Given the description of an element on the screen output the (x, y) to click on. 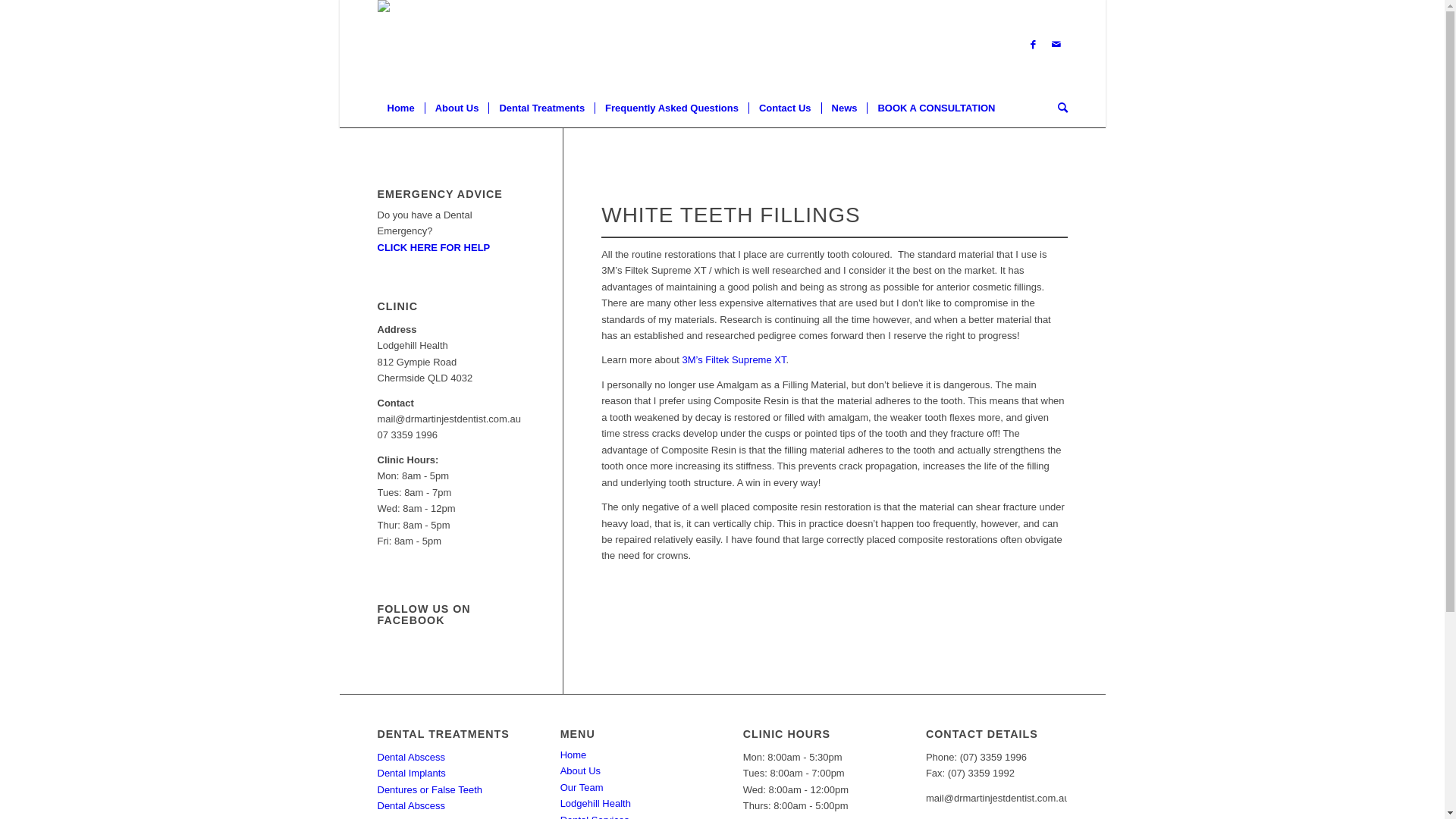
Dental Treatments Element type: text (541, 108)
Dental Implants Element type: text (411, 772)
About Us Element type: text (456, 108)
About Us Element type: text (580, 770)
Home Element type: text (573, 754)
Contact Us Element type: text (784, 108)
Dental Abscess Element type: text (411, 805)
News Element type: text (844, 108)
Frequently Asked Questions Element type: text (671, 108)
CLICK HERE FOR HELP Element type: text (433, 247)
Dentures or False Teeth Element type: text (430, 789)
Home Element type: text (400, 108)
BOOK A CONSULTATION Element type: text (935, 108)
Dental Abscess Element type: text (411, 756)
Mail Element type: hover (1055, 44)
Facebook Element type: hover (1033, 44)
Our Team Element type: text (581, 787)
Dr Martin Jest Dentist Chermside Element type: hover (430, 17)
Lodgehill Health Element type: text (595, 803)
